Given the description of an element on the screen output the (x, y) to click on. 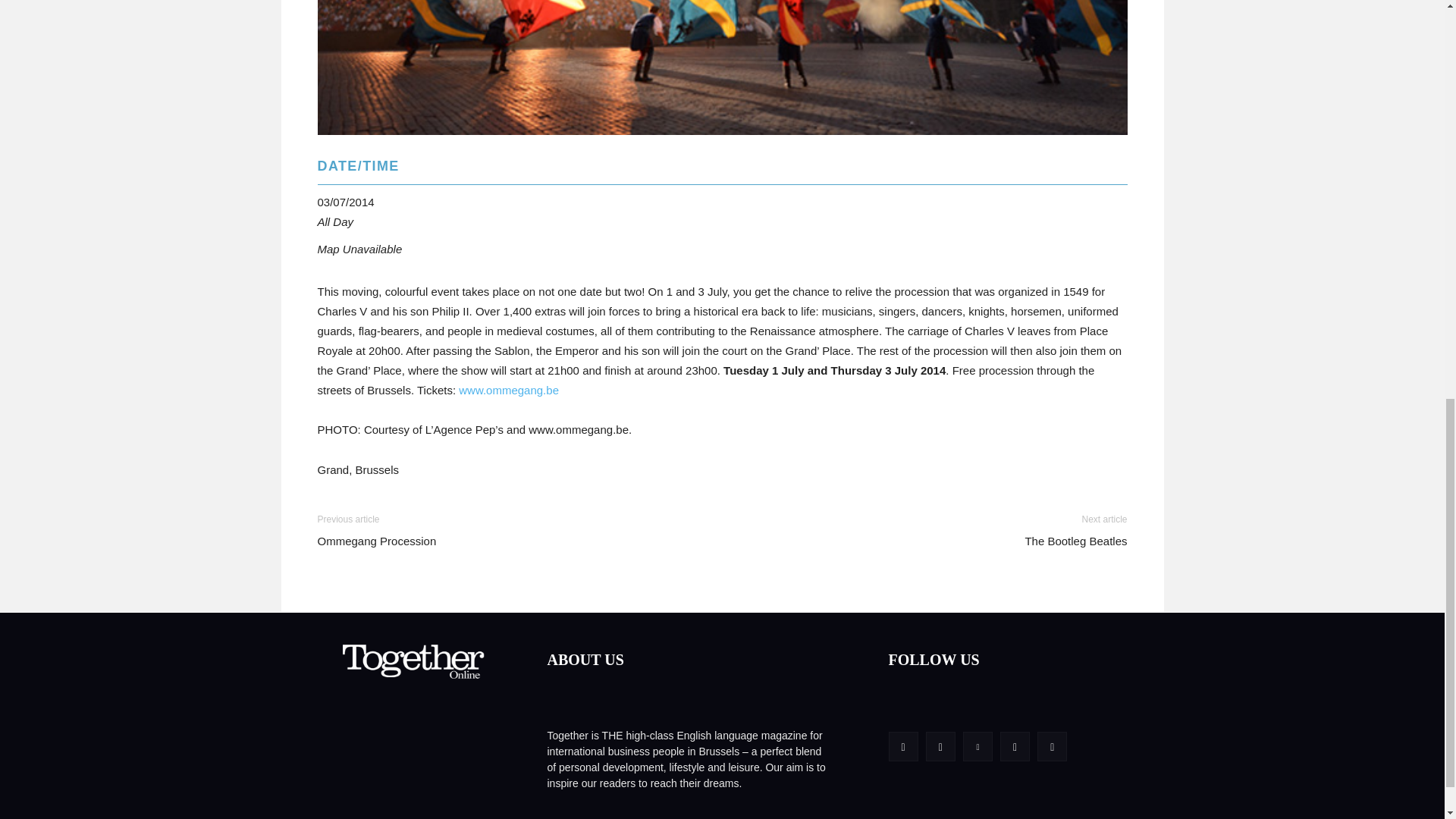
Facebook (903, 746)
together-logo-footer (414, 664)
Ommegang Procession (721, 67)
